Given the description of an element on the screen output the (x, y) to click on. 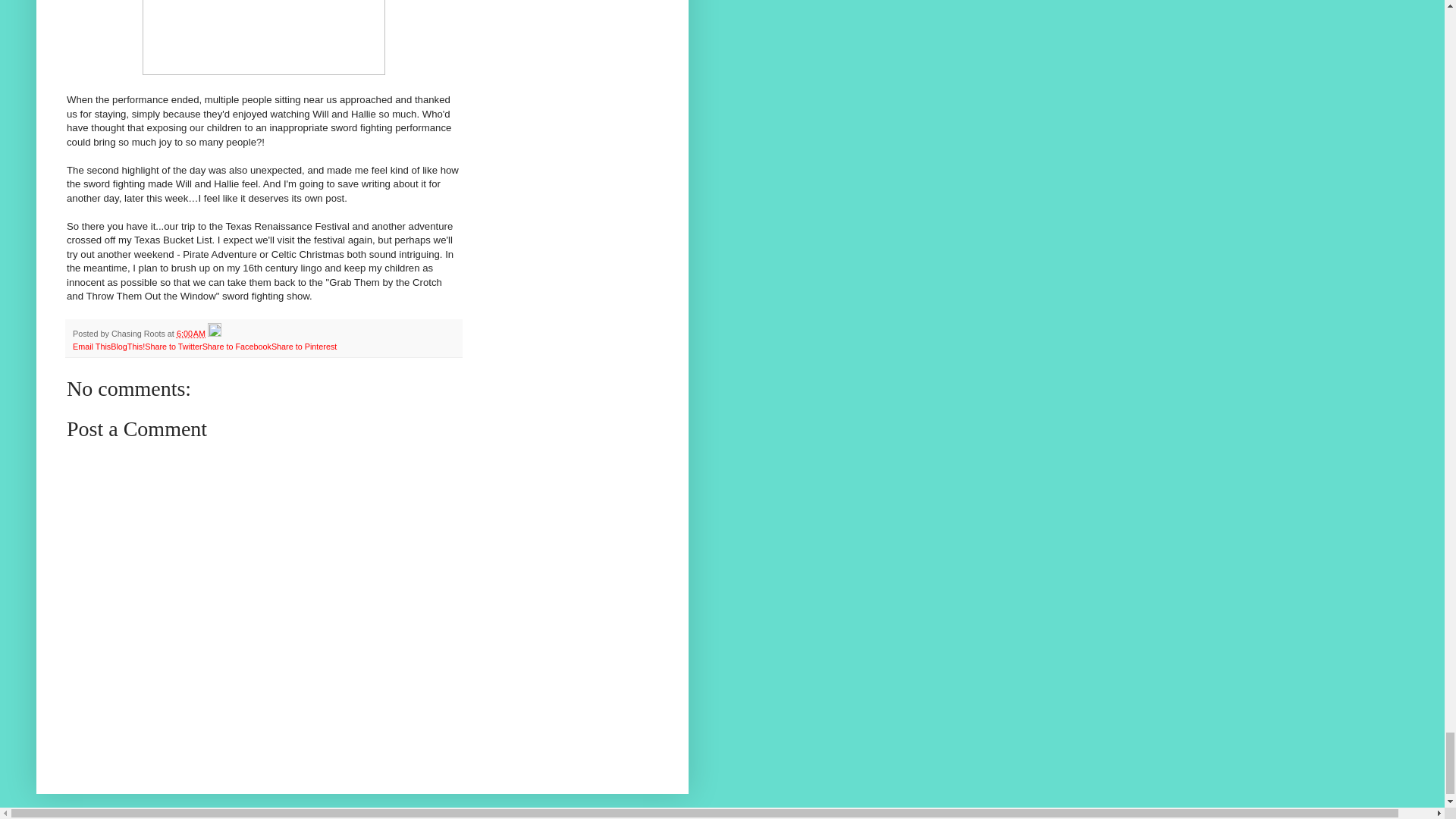
Share to Facebook (236, 346)
Share to Twitter (173, 346)
Email This (91, 346)
Share to Pinterest (303, 346)
BlogThis! (127, 346)
permanent link (190, 333)
Edit Post (214, 333)
